Given the description of an element on the screen output the (x, y) to click on. 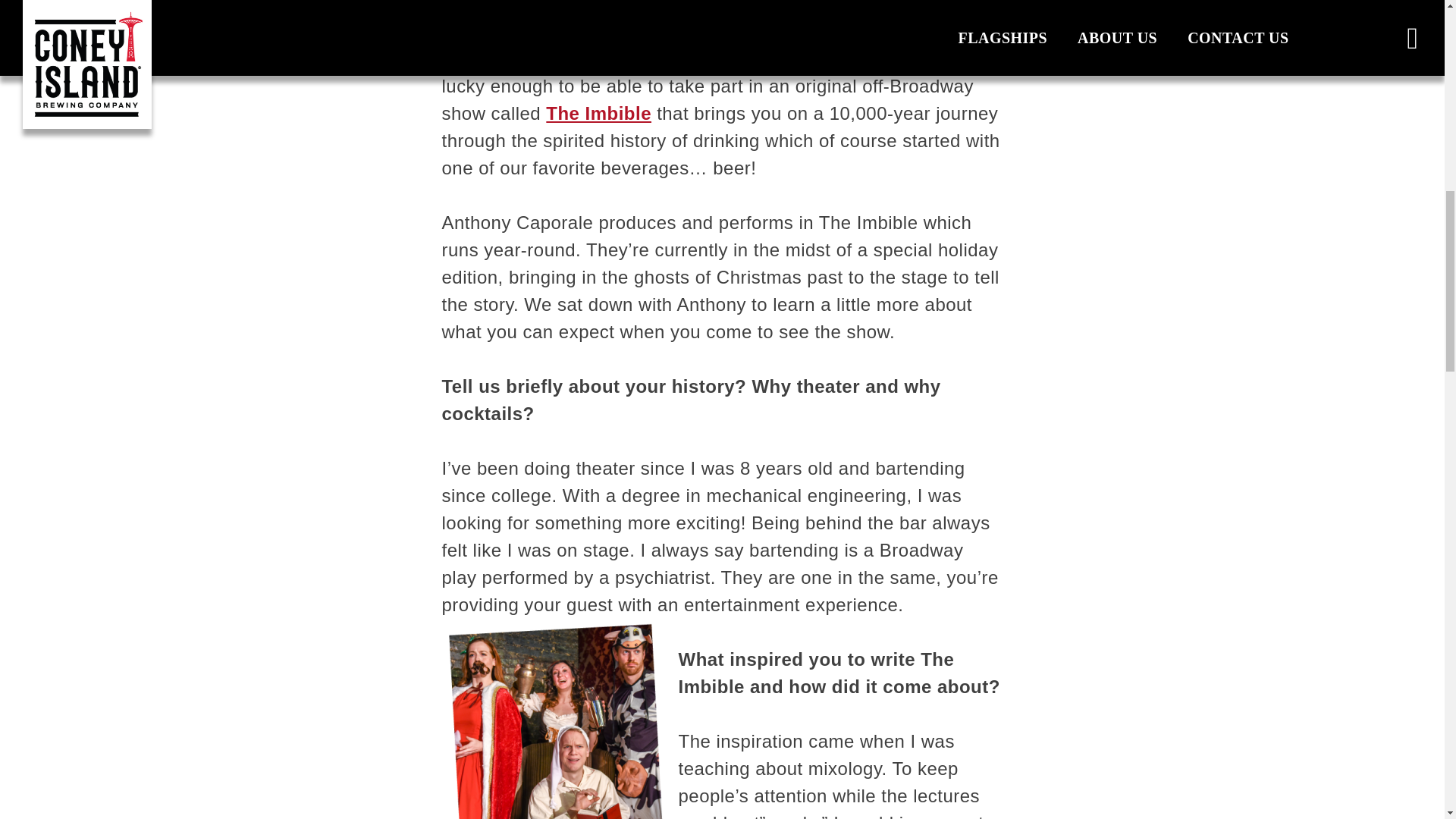
The Imbible (598, 113)
